Given the description of an element on the screen output the (x, y) to click on. 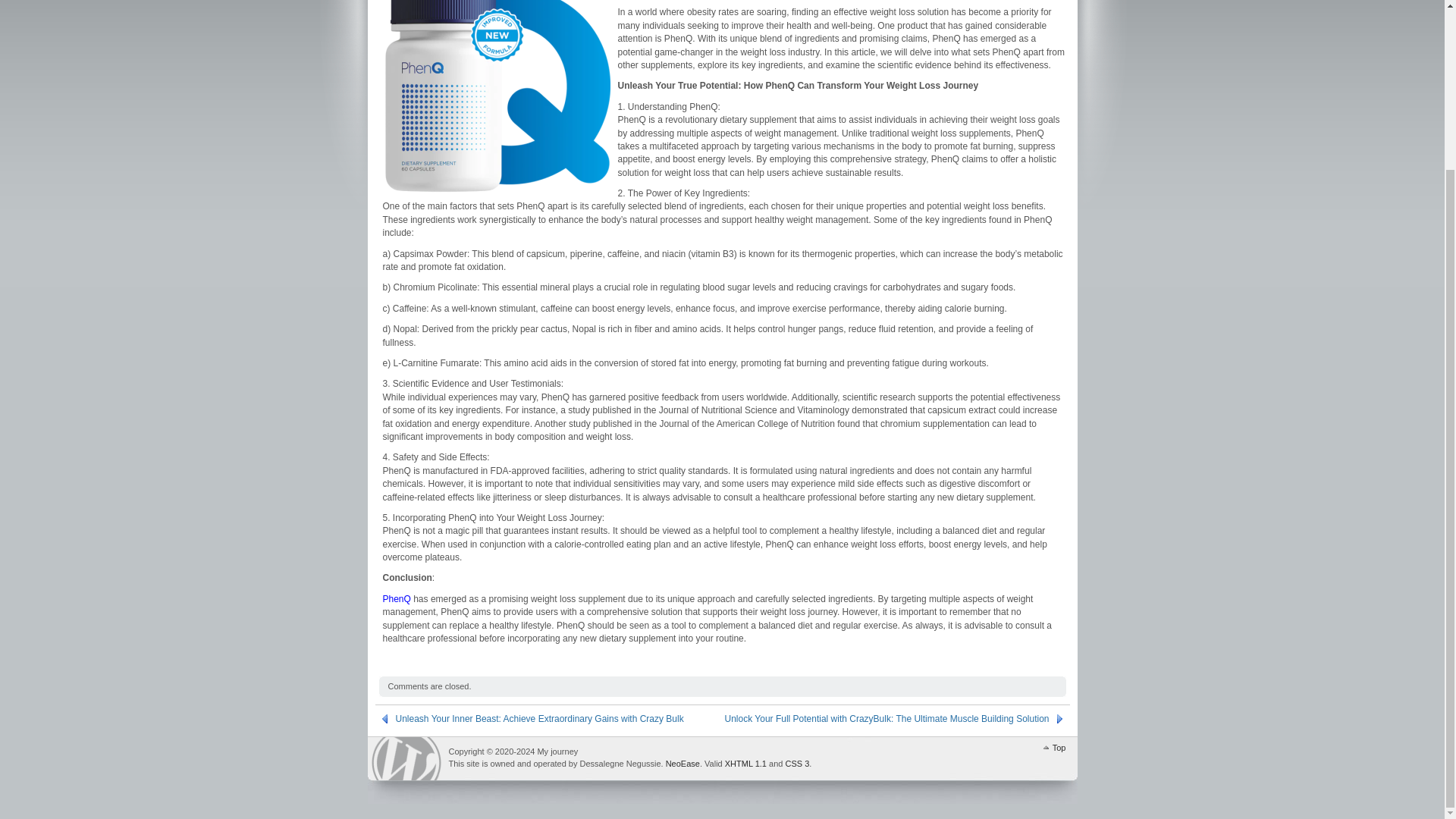
WordPress (406, 758)
PhenQ (395, 598)
CSS 3 (796, 763)
Top (1053, 746)
NeoEase (682, 763)
XHTML 1.1 (746, 763)
